Given the description of an element on the screen output the (x, y) to click on. 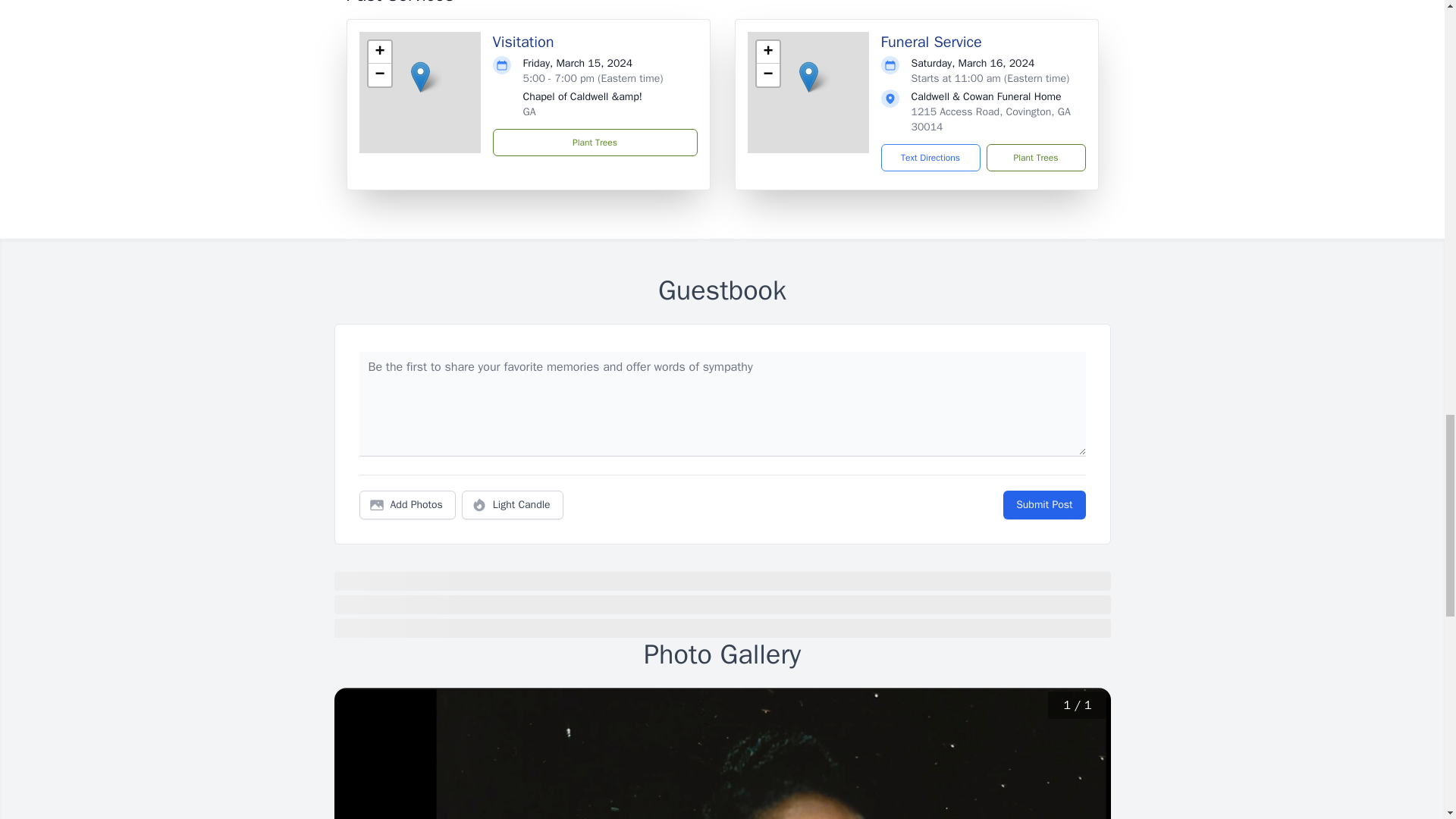
Zoom out (379, 74)
Add Photos (407, 504)
Plant Trees (595, 142)
Zoom in (767, 51)
Text Directions (929, 157)
Zoom in (379, 51)
Plant Trees (1034, 157)
GA (528, 111)
Zoom out (767, 74)
Submit Post (1043, 504)
1215 Access Road, Covington, GA 30014 (990, 119)
Light Candle (512, 504)
